Given the description of an element on the screen output the (x, y) to click on. 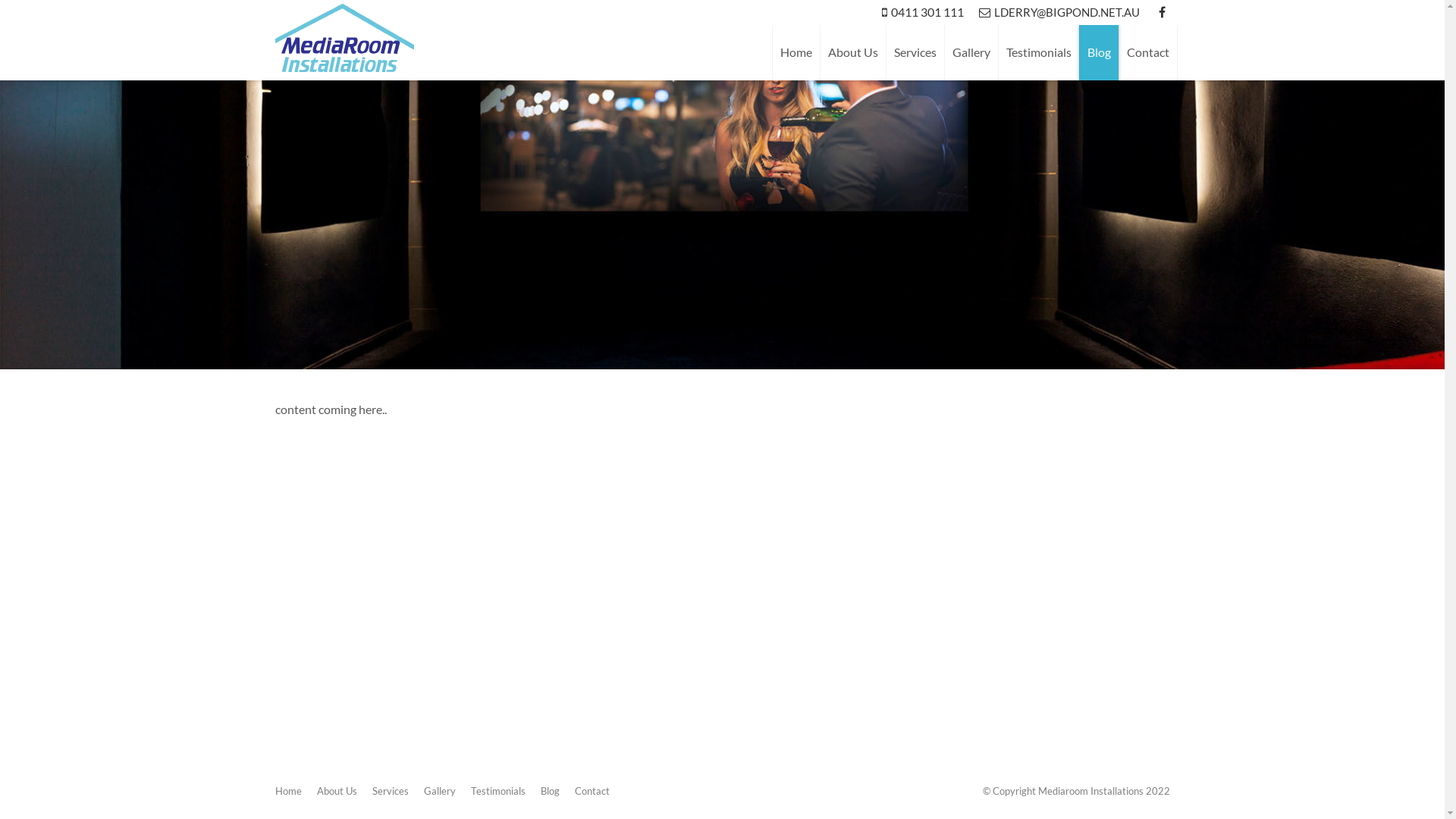
About Us Element type: text (851, 52)
Gallery Element type: text (438, 790)
Blog Element type: text (549, 790)
Contact Element type: text (592, 790)
Contact Element type: text (1146, 52)
Blog Element type: text (1097, 52)
Home Element type: text (287, 790)
About Us Element type: text (336, 790)
0411 301 111 Element type: text (921, 12)
Services Element type: text (914, 52)
Services Element type: text (389, 790)
LDERRY@BIGPOND.NET.AU Element type: text (1058, 12)
Testimonials Element type: text (497, 790)
Gallery Element type: text (970, 52)
Testimonials Element type: text (1038, 52)
Home Element type: text (795, 52)
